Given the description of an element on the screen output the (x, y) to click on. 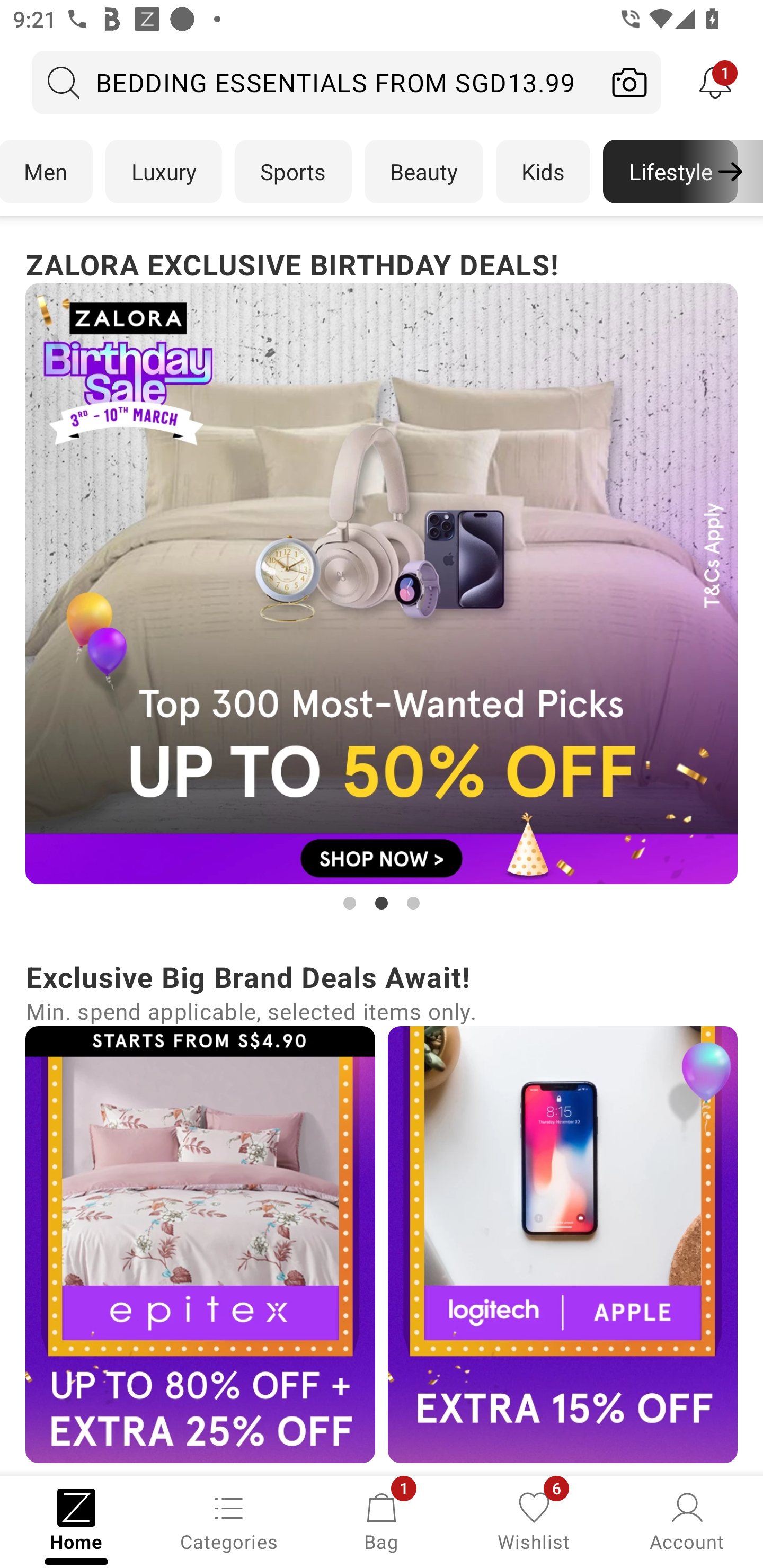
BEDDING ESSENTIALS FROM SGD13.99 (314, 82)
Men (46, 171)
Luxury (163, 171)
Sports (293, 171)
Beauty (423, 171)
Kids (542, 171)
Lifestyle (669, 171)
ZALORA EXCLUSIVE BIRTHDAY DEALS! Campaign banner (381, 578)
Campaign banner (381, 583)
Campaign banner (200, 1243)
Campaign banner (562, 1243)
Categories (228, 1519)
Bag, 1 new notification Bag (381, 1519)
Wishlist, 6 new notifications Wishlist (533, 1519)
Account (686, 1519)
